Given the description of an element on the screen output the (x, y) to click on. 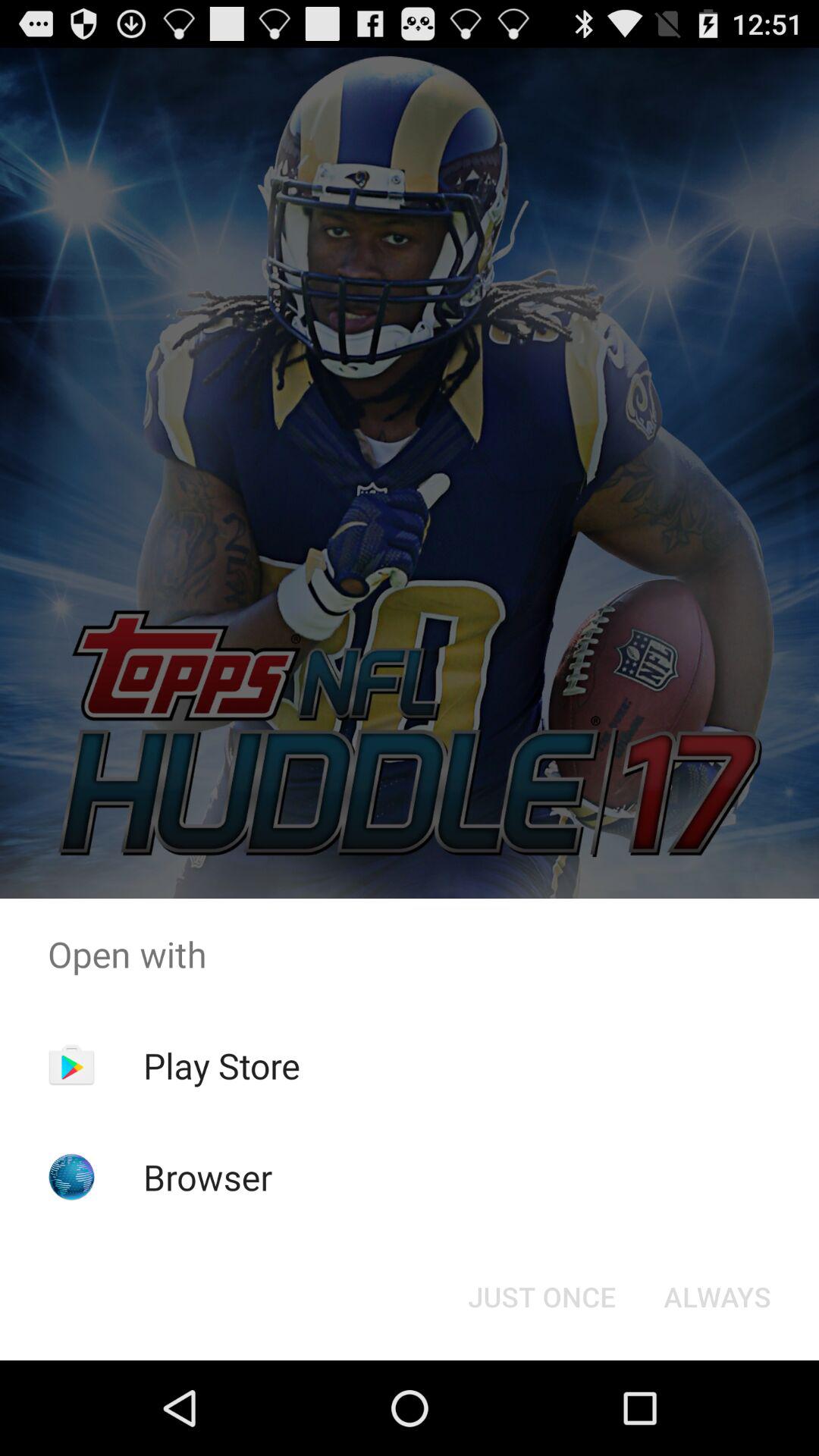
turn off icon above the browser (221, 1065)
